Given the description of an element on the screen output the (x, y) to click on. 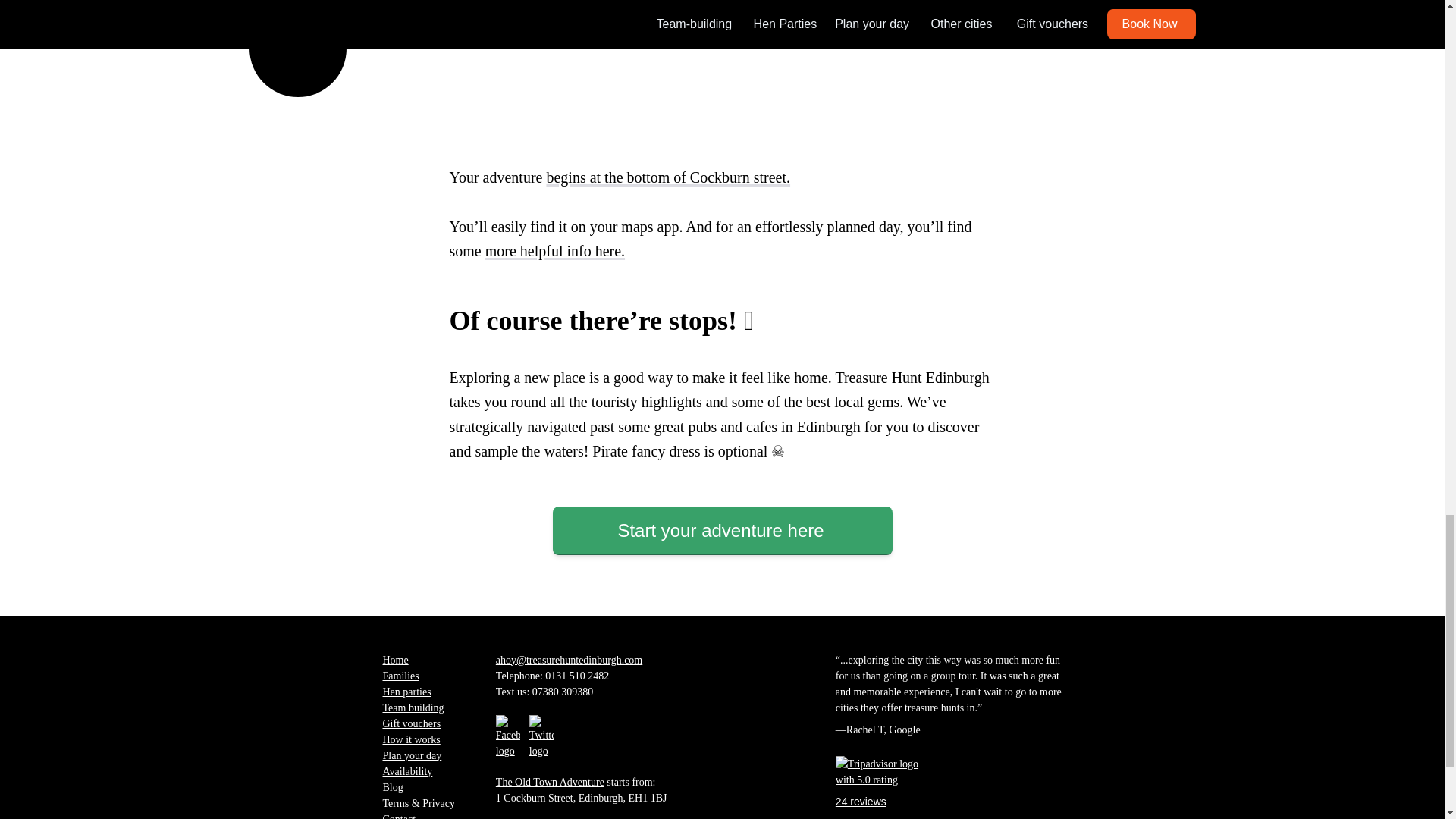
Contact (397, 816)
Blog (392, 786)
Families (400, 675)
Hen parties (405, 690)
more helpful info here. (554, 250)
07380 309380 (563, 690)
Team building (412, 707)
Start your adventure here (721, 530)
Gift vouchers (411, 722)
How it works (410, 739)
Privacy (438, 803)
Home (394, 659)
begins at the bottom of Cockburn street. (668, 176)
Plan your day (411, 754)
The Old Town Adventure (550, 781)
